Given the description of an element on the screen output the (x, y) to click on. 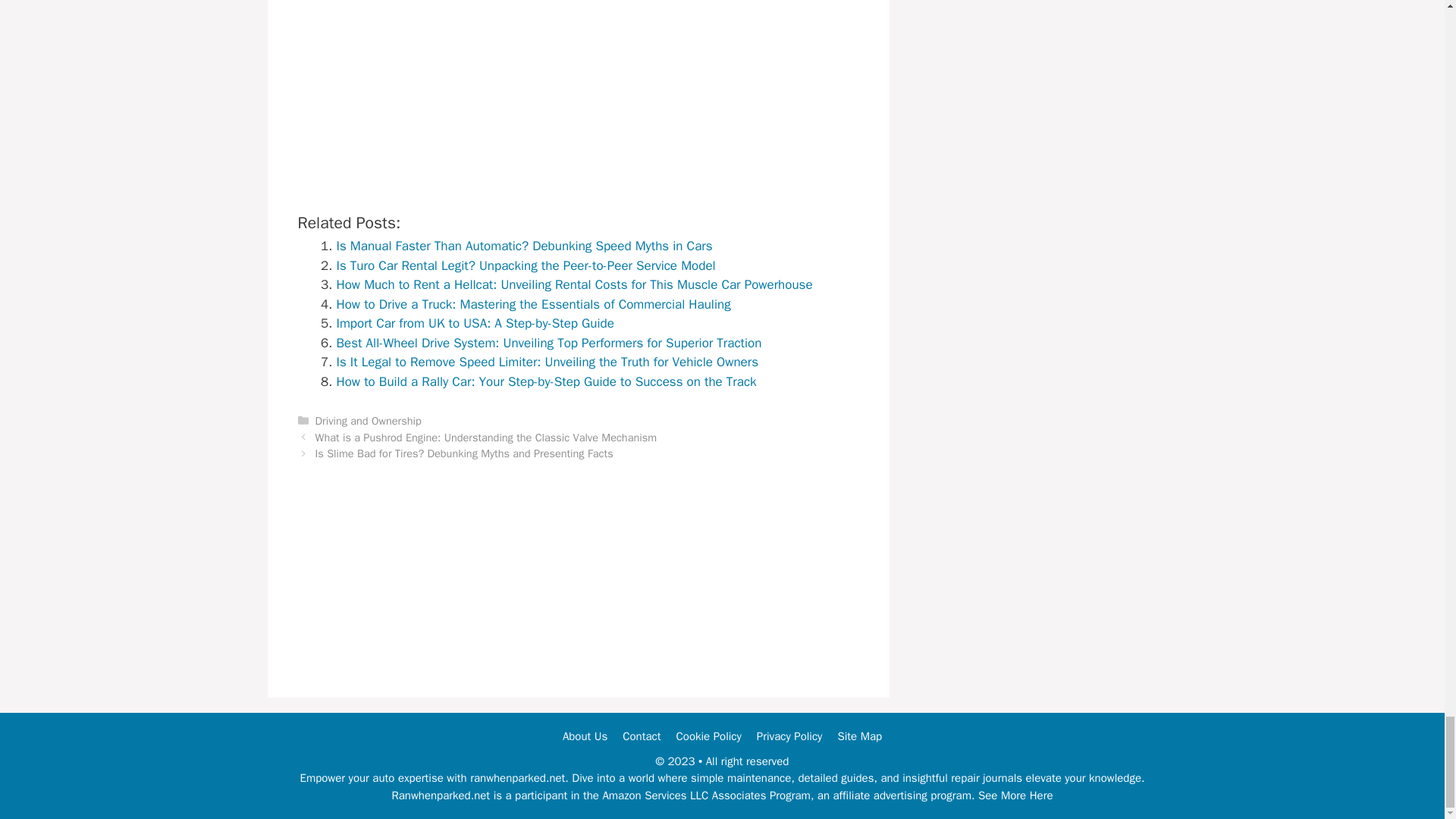
Import Car from UK to USA: A Step-by-Step Guide (475, 323)
